Given the description of an element on the screen output the (x, y) to click on. 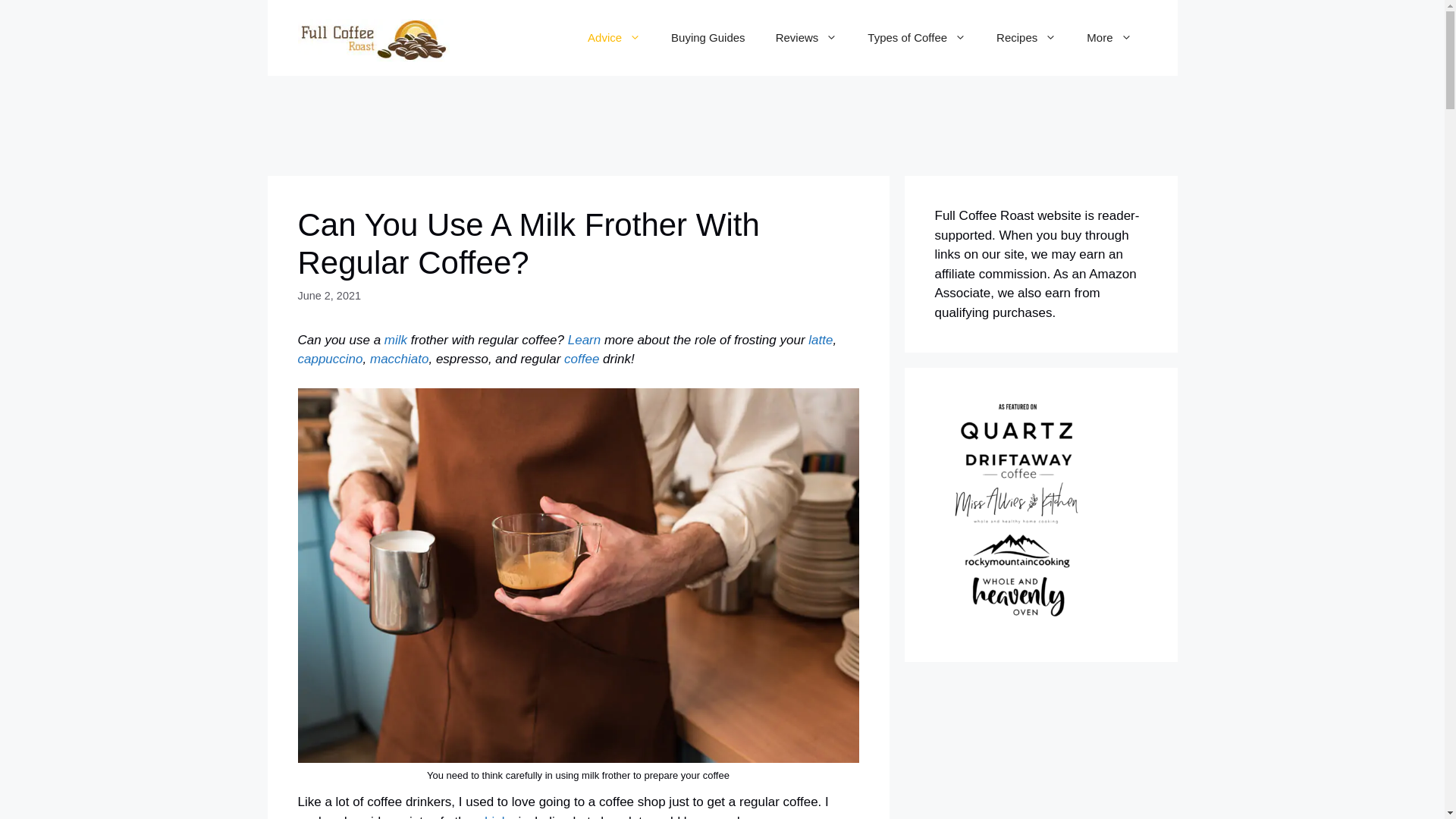
Reviews (806, 37)
Types of Coffee (916, 37)
More (1109, 37)
Buying Guides (708, 37)
Advice (614, 37)
Cappuccinos (329, 359)
Recipes (1026, 37)
beverage (496, 816)
